Given the description of an element on the screen output the (x, y) to click on. 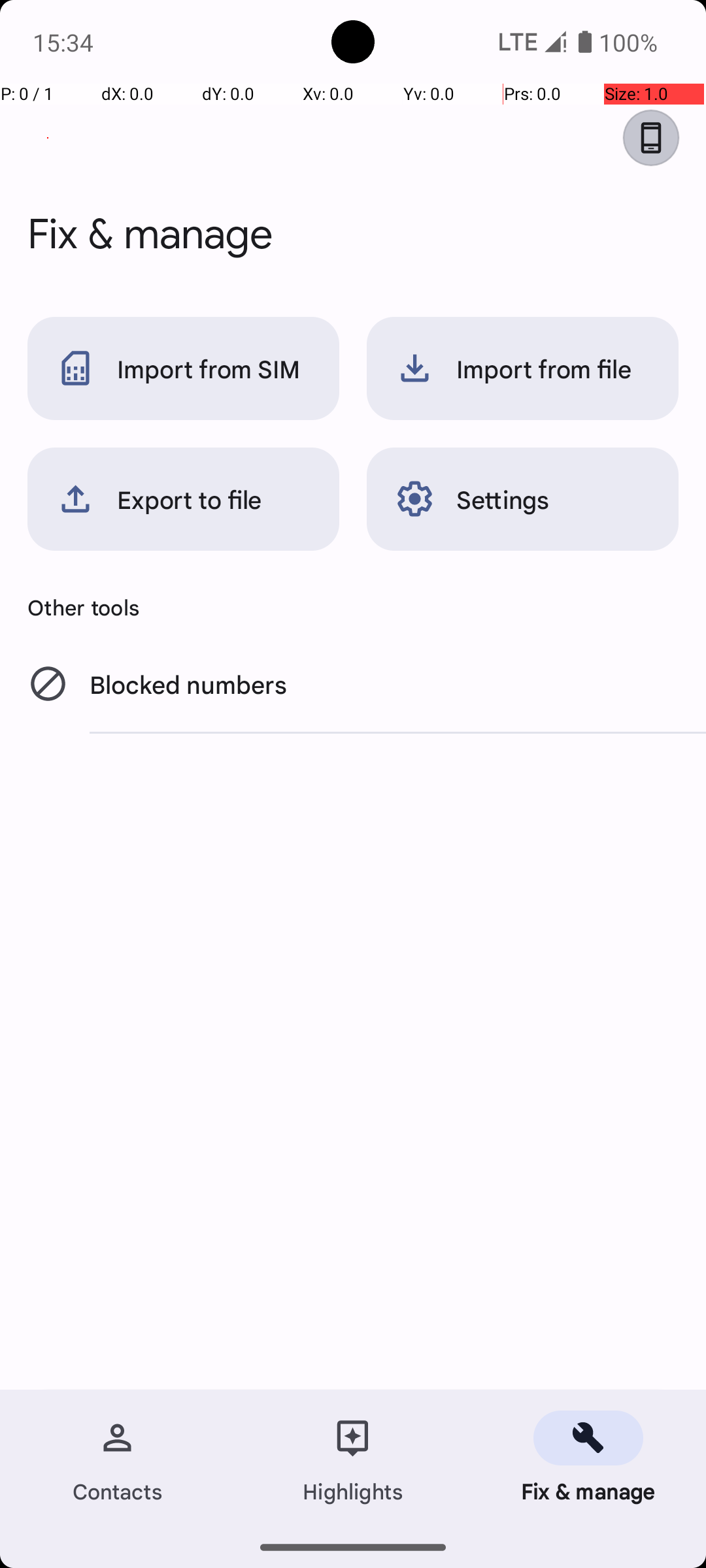
Other tools Element type: android.widget.TextView (353, 606)
Import from SIM Element type: android.widget.TextView (183, 368)
Import from file Element type: android.widget.TextView (522, 368)
Export to file Element type: android.widget.TextView (183, 498)
